Given the description of an element on the screen output the (x, y) to click on. 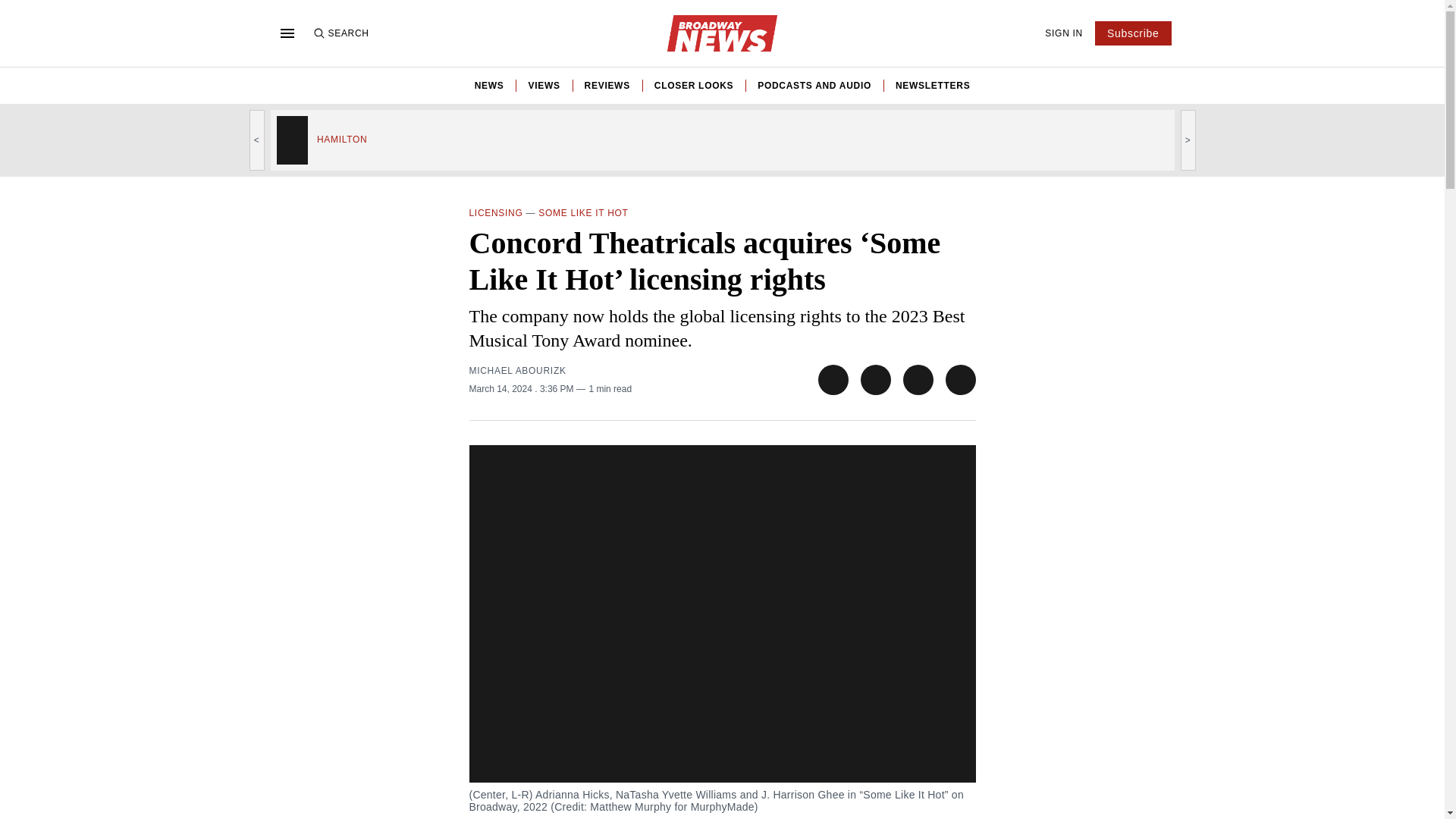
VIEWS (543, 85)
PODCASTS AND AUDIO (813, 85)
REVIEWS (607, 85)
CLOSER LOOKS (693, 85)
NEWS (488, 85)
NEWSLETTERS (932, 85)
SIGN IN (1064, 33)
SEARCH (340, 33)
Subscribe (1133, 33)
